Given the description of an element on the screen output the (x, y) to click on. 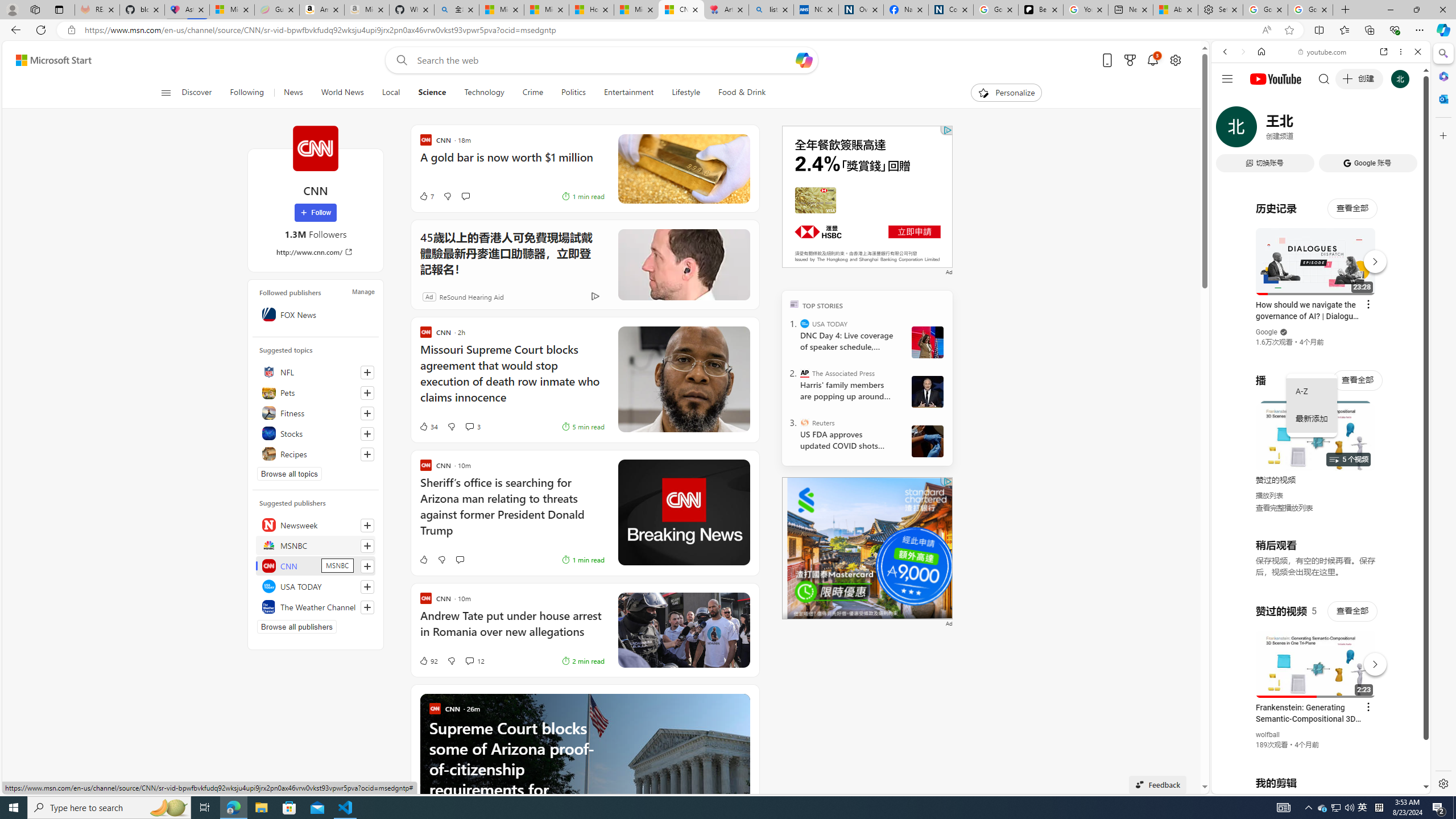
Cookies (950, 9)
View comments 3 Comment (469, 426)
Music (1320, 309)
